Given the description of an element on the screen output the (x, y) to click on. 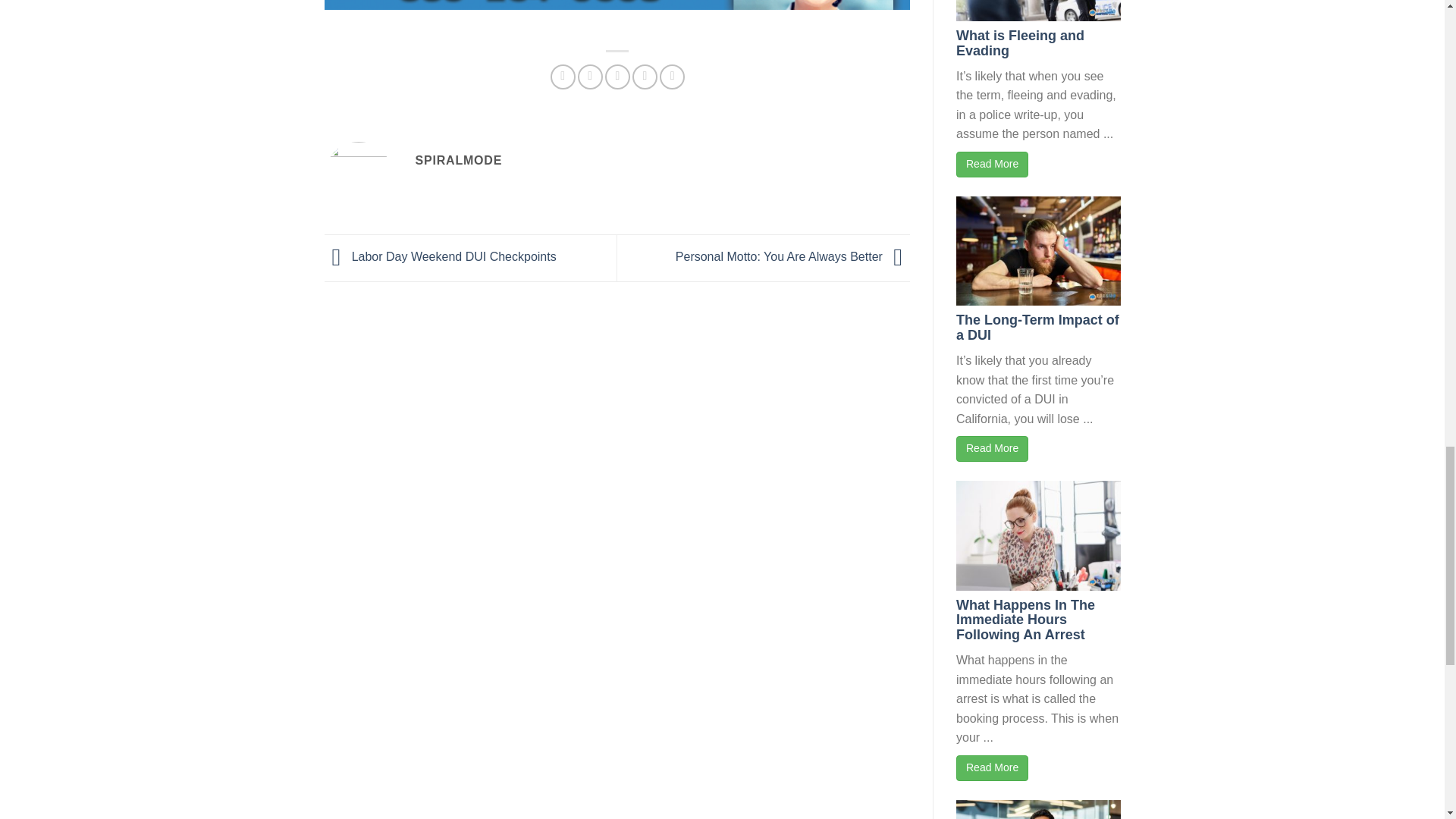
Share on Facebook (562, 76)
Share on Twitter (590, 76)
Email to a Friend (617, 76)
Pin on Pinterest (644, 76)
Share on LinkedIn (671, 76)
